Given the description of an element on the screen output the (x, y) to click on. 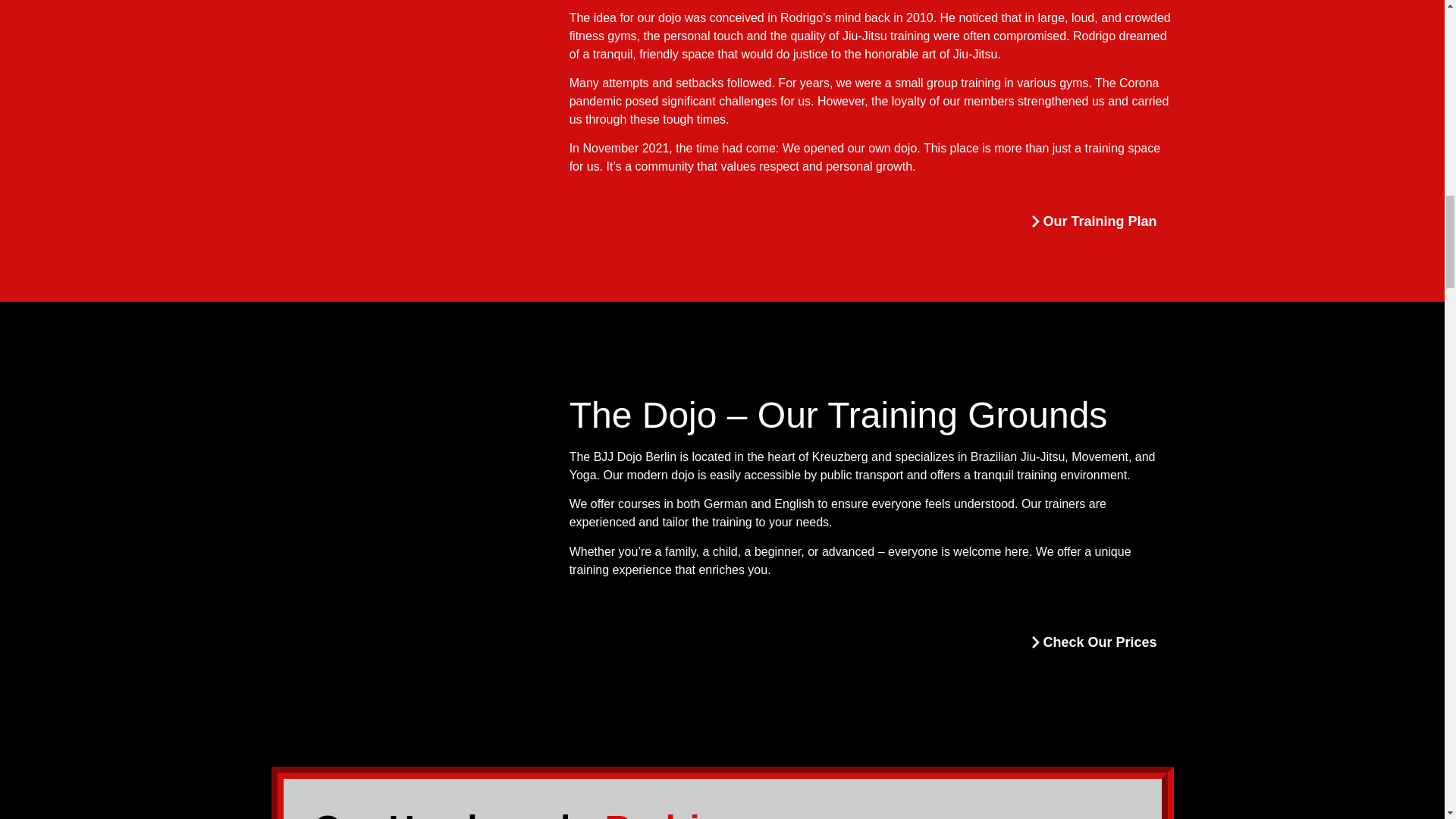
Our Training Plan (1089, 222)
Check Our Prices (1089, 642)
